Given the description of an element on the screen output the (x, y) to click on. 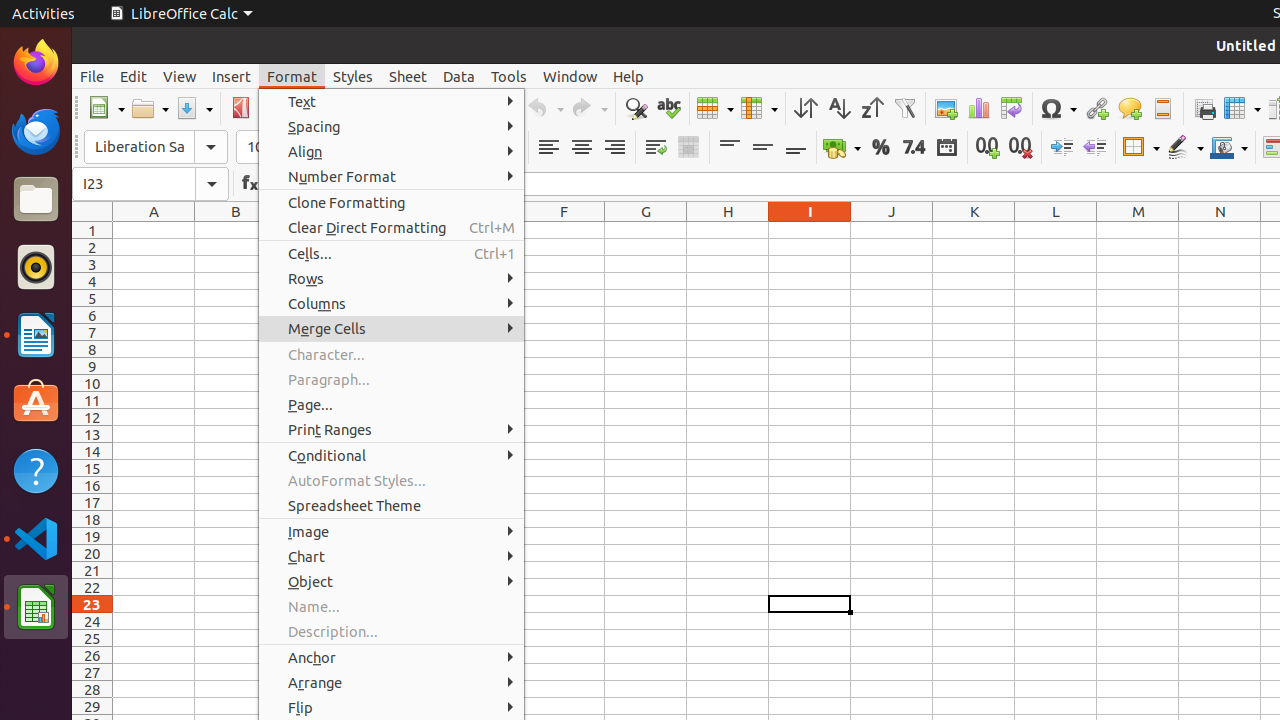
Split Cells Element type: menu-item (630, 378)
Name... Element type: menu-item (391, 606)
J1 Element type: table-cell (892, 230)
View Element type: menu (179, 76)
New Element type: push-button (106, 108)
